Given the description of an element on the screen output the (x, y) to click on. 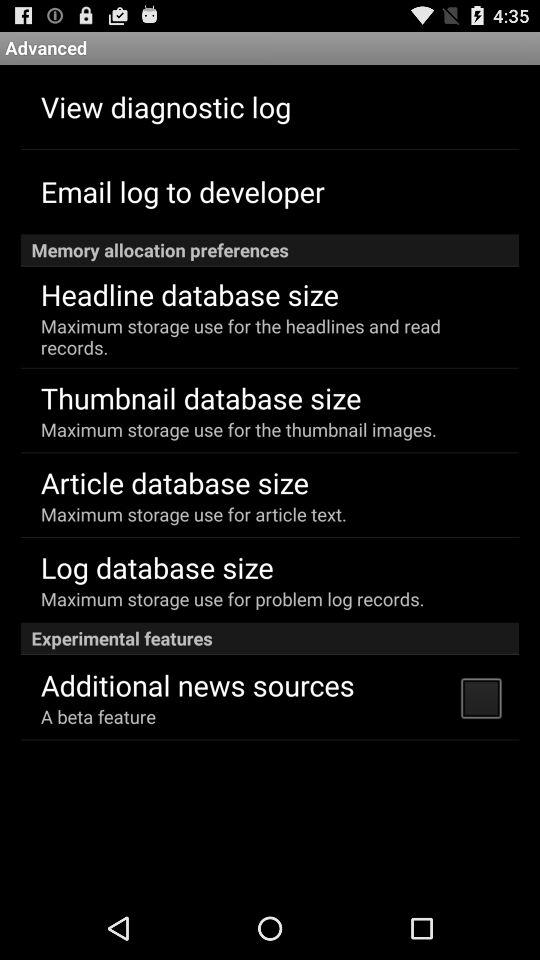
select a beta feature item (98, 716)
